Given the description of an element on the screen output the (x, y) to click on. 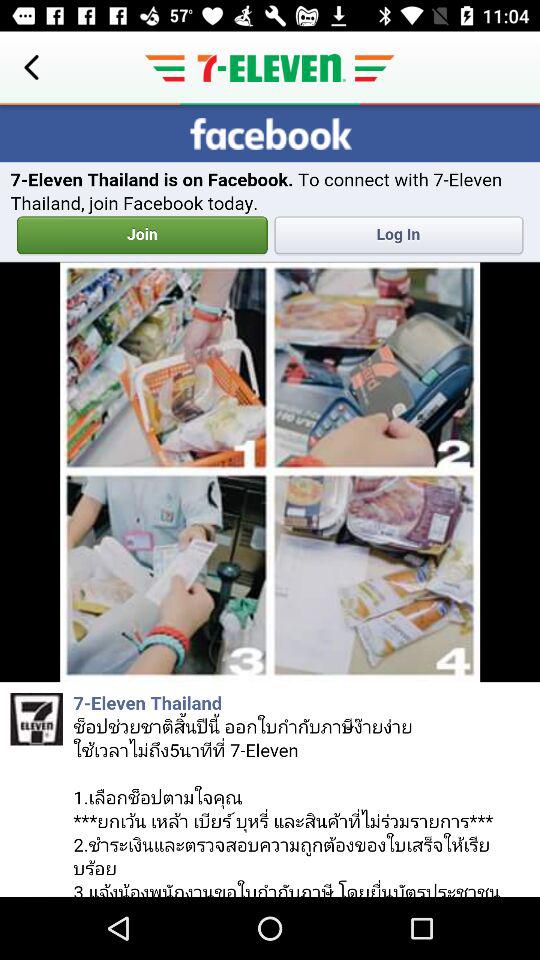
join facebook (270, 501)
